Given the description of an element on the screen output the (x, y) to click on. 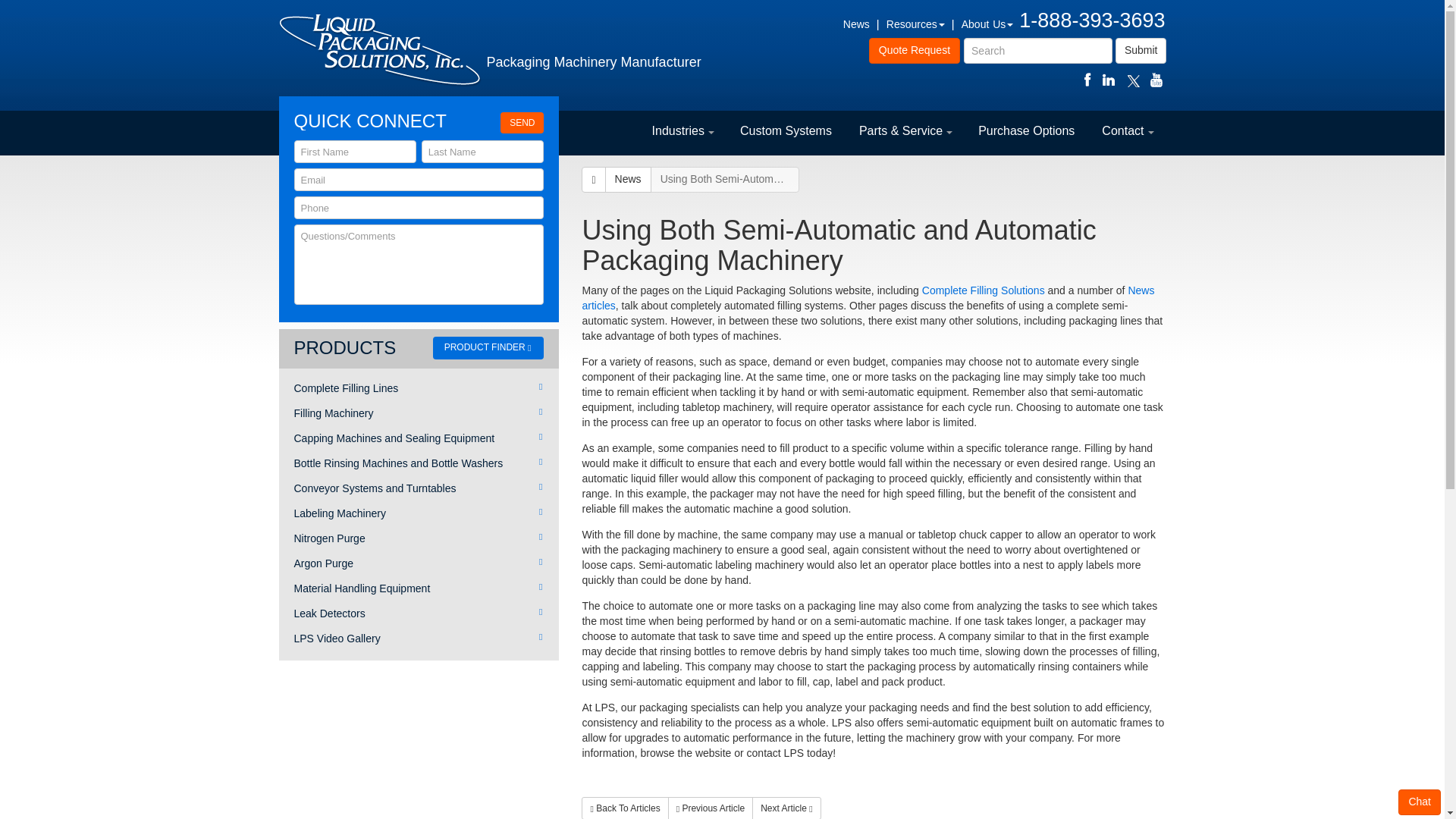
Packaging Solutions (983, 290)
About Us (986, 24)
Liquid Packaging Solutions (379, 50)
News from Liquid Packaging Solutions! (867, 298)
News (856, 24)
Purchase Options (1025, 132)
Custom Systems (785, 132)
About Us (986, 24)
Resources (915, 24)
Submit (1140, 50)
